Given the description of an element on the screen output the (x, y) to click on. 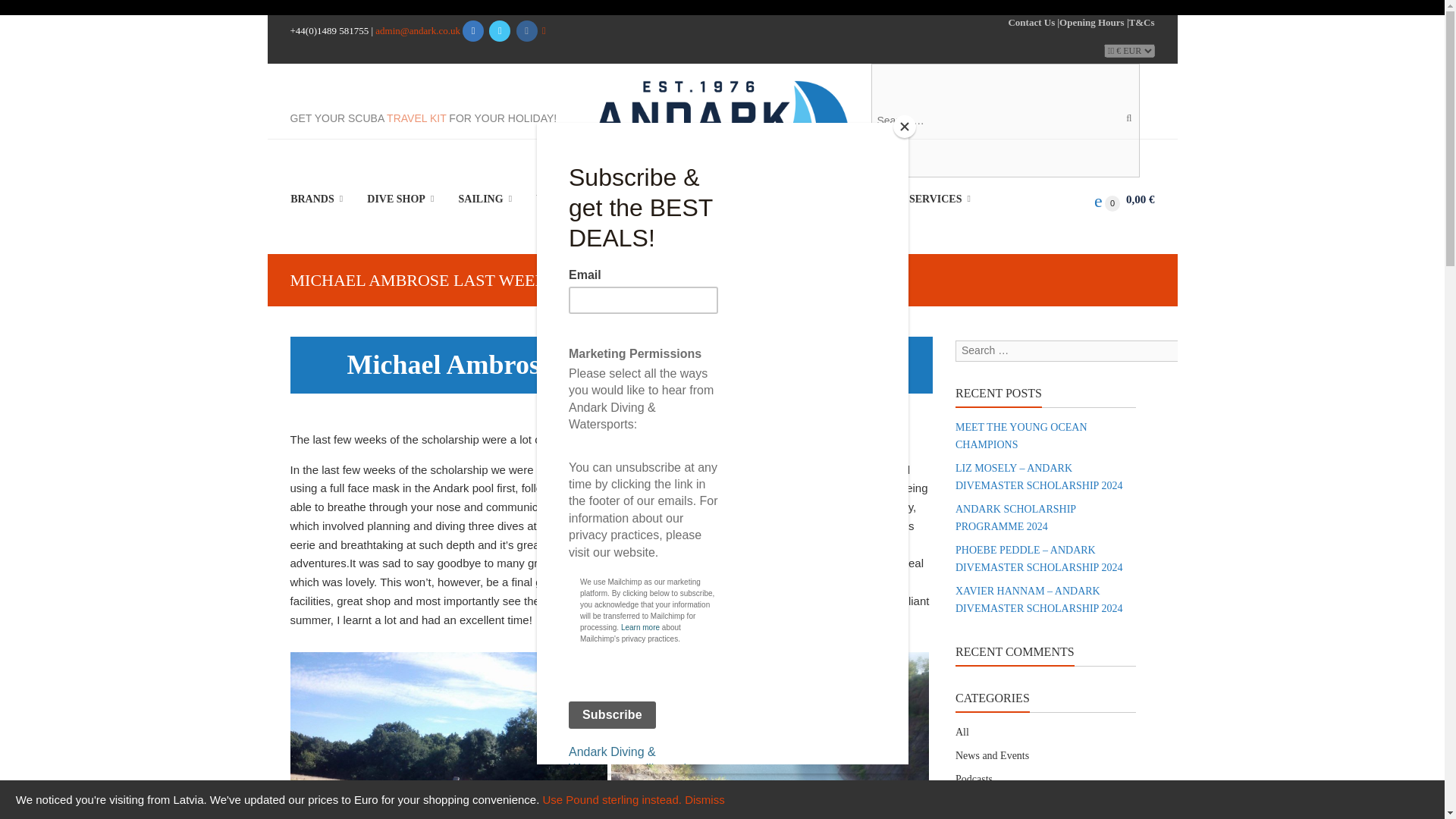
TRAVEL KIT (417, 118)
BRANDS (315, 198)
View your shopping cart (1124, 199)
Opening Hours (1091, 21)
Contact Us (1030, 21)
